Given the description of an element on the screen output the (x, y) to click on. 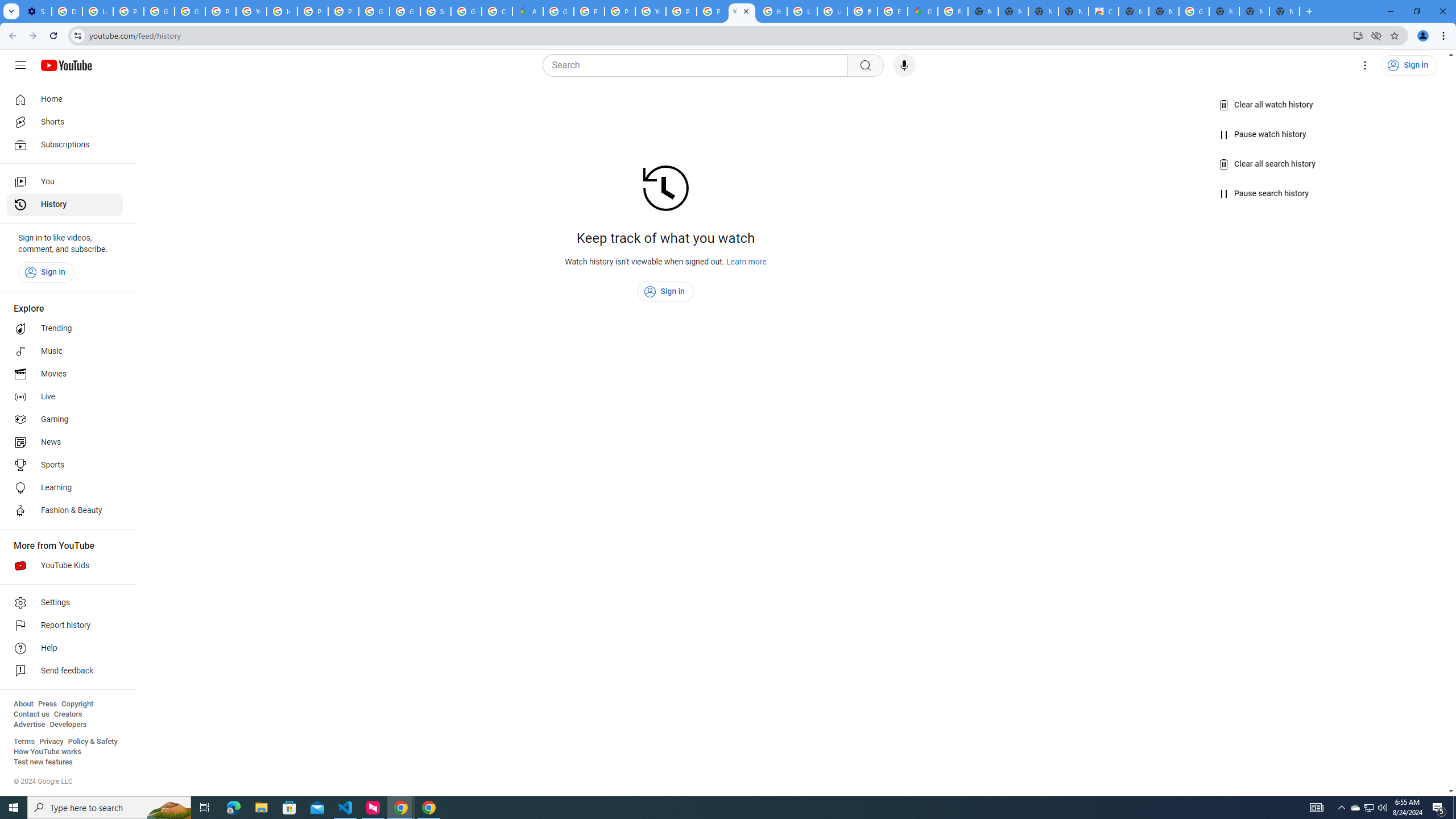
Policy & Safety (91, 741)
Copyright (77, 703)
New Tab (1283, 11)
Advertise (29, 724)
Privacy Help Center - Policies Help (619, 11)
About (23, 703)
